Given the description of an element on the screen output the (x, y) to click on. 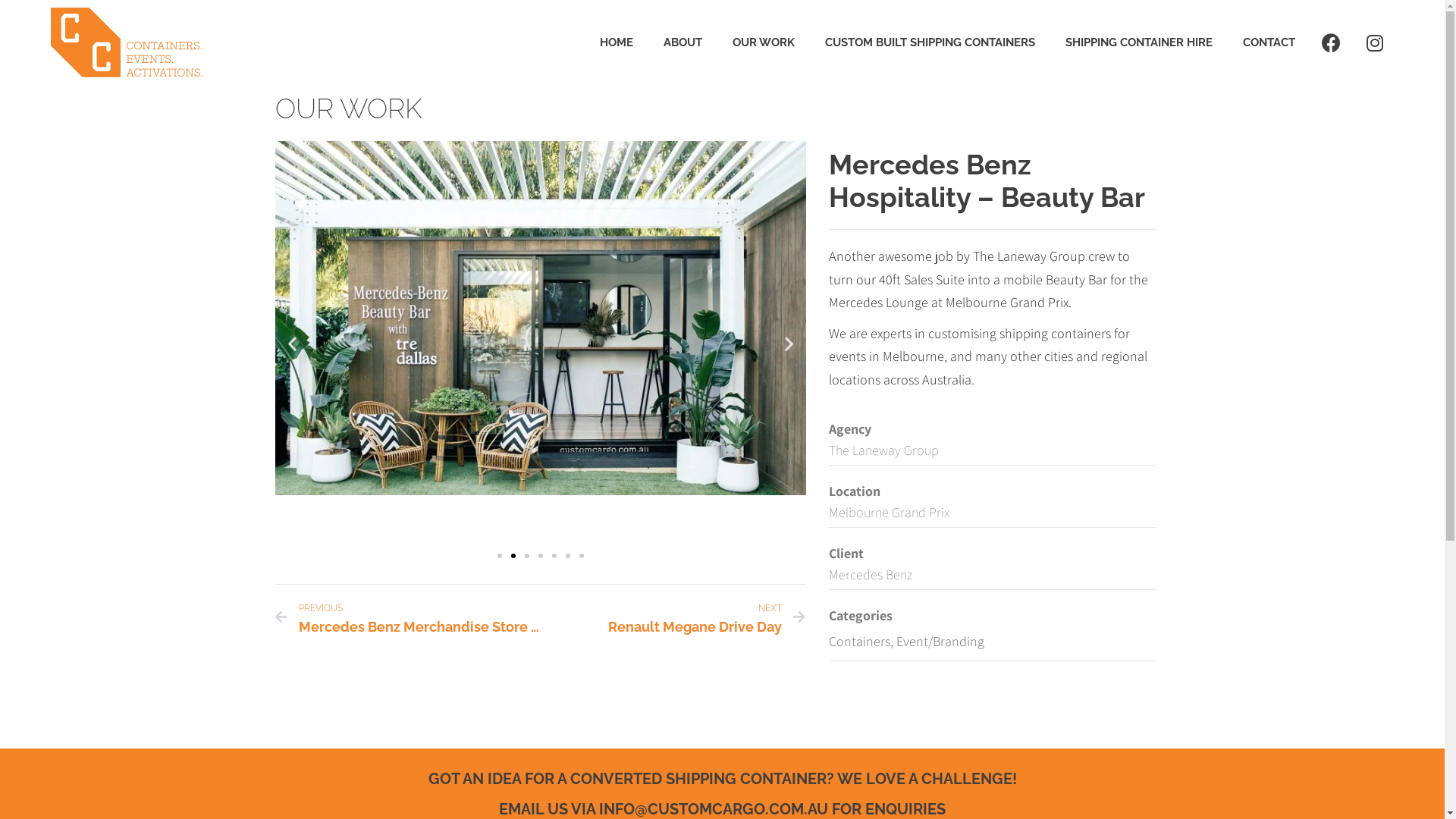
CUSTOM BUILT SHIPPING CONTAINERS Element type: text (929, 42)
OUR WORK Element type: text (347, 108)
CONTACT Element type: text (1268, 42)
HOME Element type: text (616, 42)
ABOUT Element type: text (682, 42)
SHIPPING CONTAINER HIRE Element type: text (1138, 42)
EMAIL US VIA INFO@CUSTOMCARGO.COM.AU FOR ENQUIRIES Element type: text (721, 809)
NEXT
Renault Megane Drive Day Element type: text (672, 617)
OUR WORK Element type: text (763, 42)
